Given the description of an element on the screen output the (x, y) to click on. 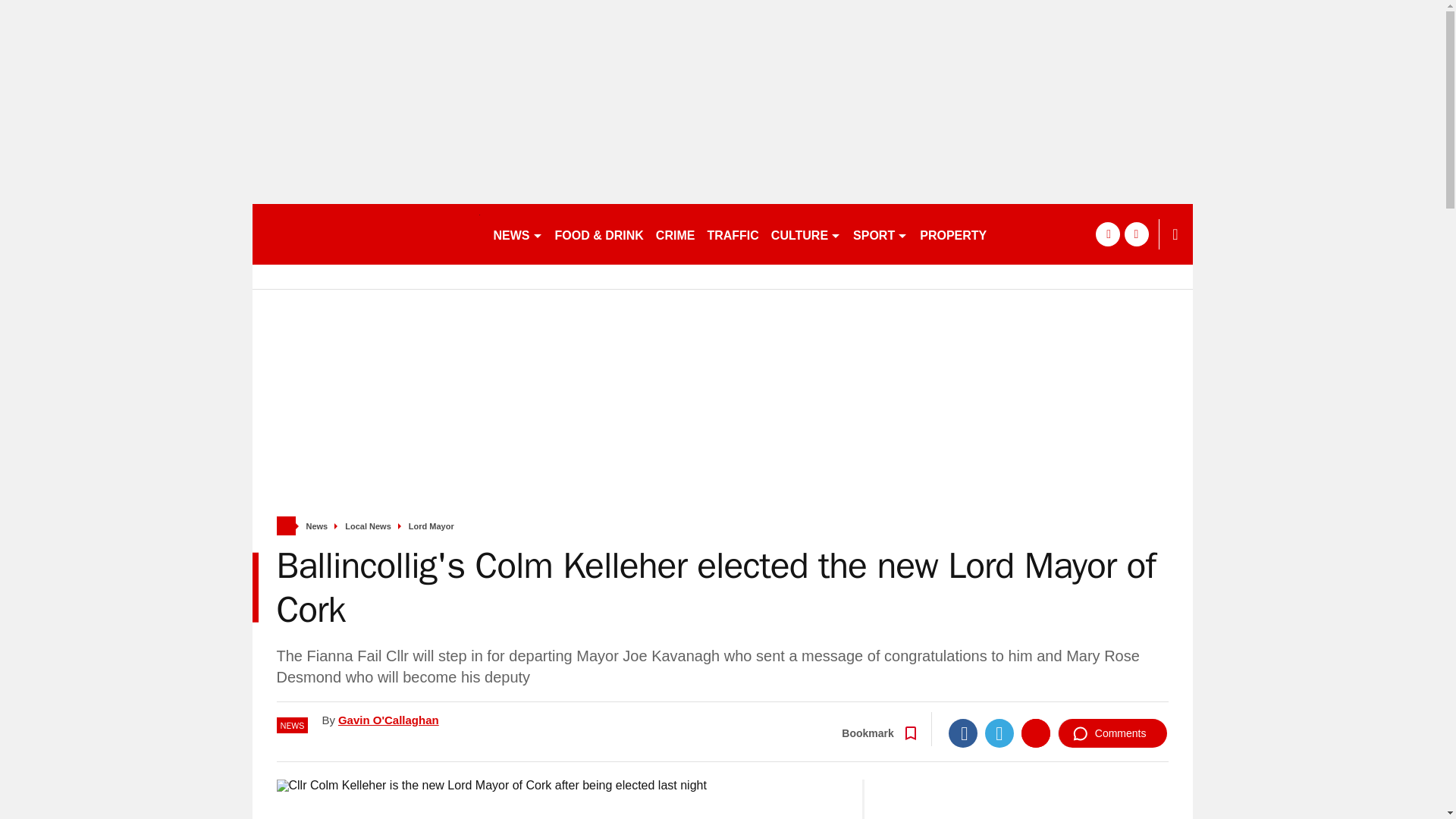
PROPERTY (953, 233)
SPORT (880, 233)
corklive (365, 233)
NEWS (517, 233)
twitter (1136, 233)
CULTURE (806, 233)
BUSINESS (1029, 233)
facebook (1106, 233)
Twitter (999, 733)
TRAFFIC (732, 233)
